Given the description of an element on the screen output the (x, y) to click on. 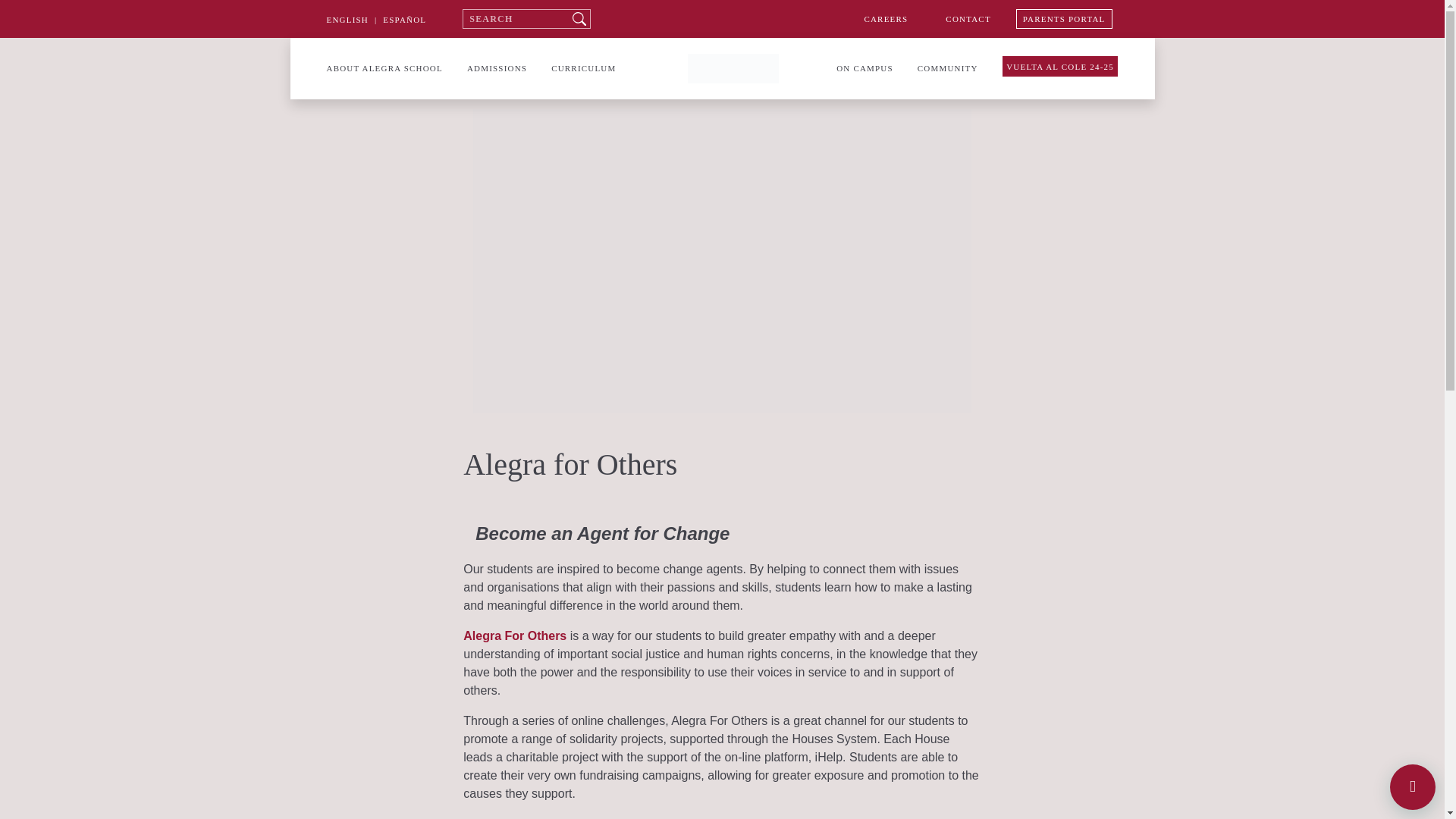
ADMISSIONS (497, 68)
Curriculum (583, 68)
ON CAMPUS (864, 68)
facebook twitter instagram user arrow close search (113, 56)
PARENTS PORTAL (1064, 18)
Admissions (497, 68)
ABOUT ALEGRA SCHOOL (384, 68)
About Alegra School (384, 68)
CAREERS (885, 18)
On campus (864, 68)
